Given the description of an element on the screen output the (x, y) to click on. 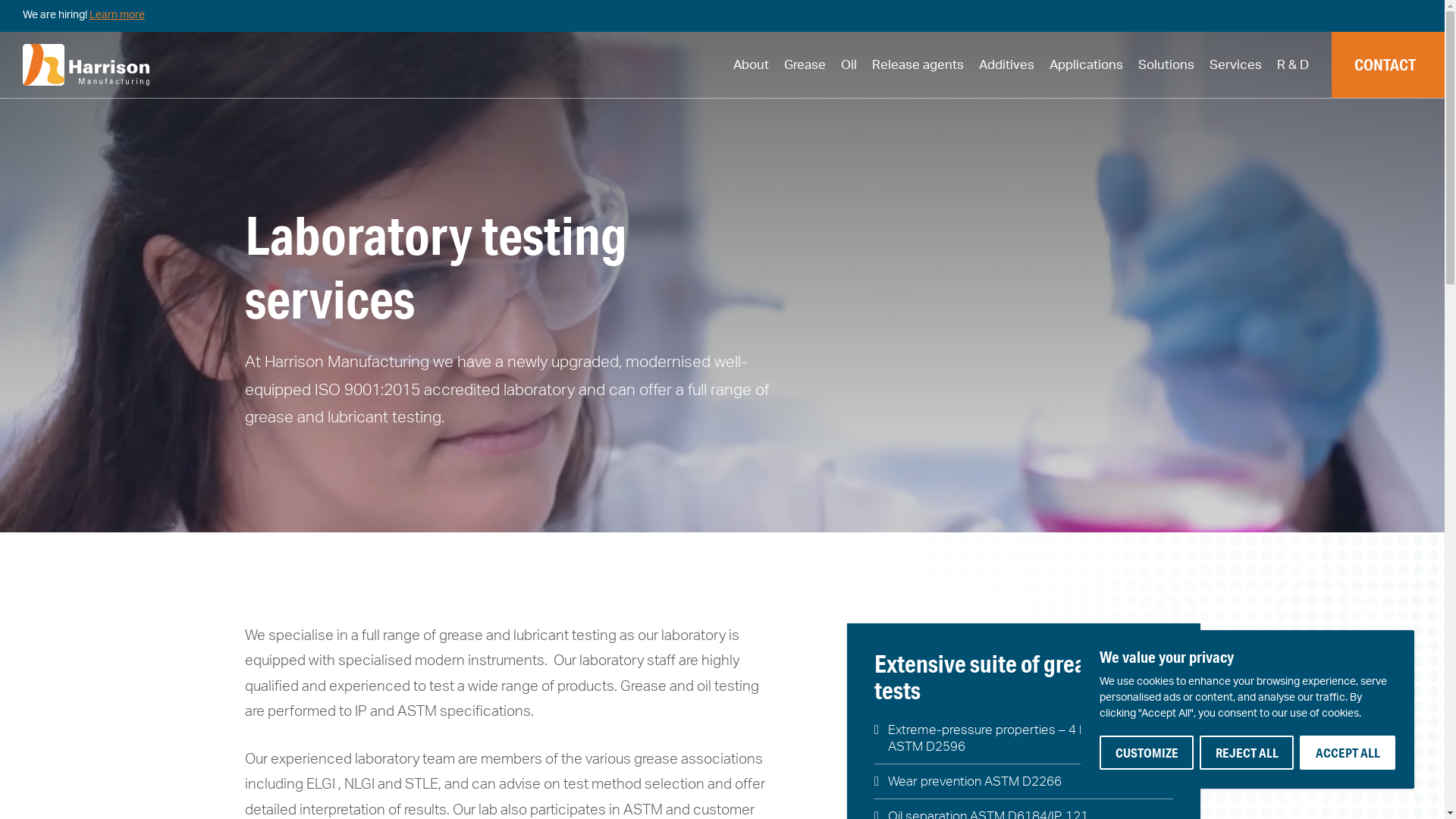
Oil Element type: text (848, 64)
ACCEPT ALL Element type: text (1347, 752)
CUSTOMIZE Element type: text (1146, 752)
Learn more Element type: text (116, 14)
Solutions Element type: text (1166, 64)
CONTACT Element type: text (1387, 64)
About Element type: text (750, 64)
R & D Element type: text (1292, 64)
Release agents Element type: text (917, 64)
Services Element type: text (1235, 64)
REJECT ALL Element type: text (1246, 752)
hmc-white-logo Element type: hover (85, 64)
Additives Element type: text (1006, 64)
Applications Element type: text (1086, 64)
Grease Element type: text (804, 64)
